Given the description of an element on the screen output the (x, y) to click on. 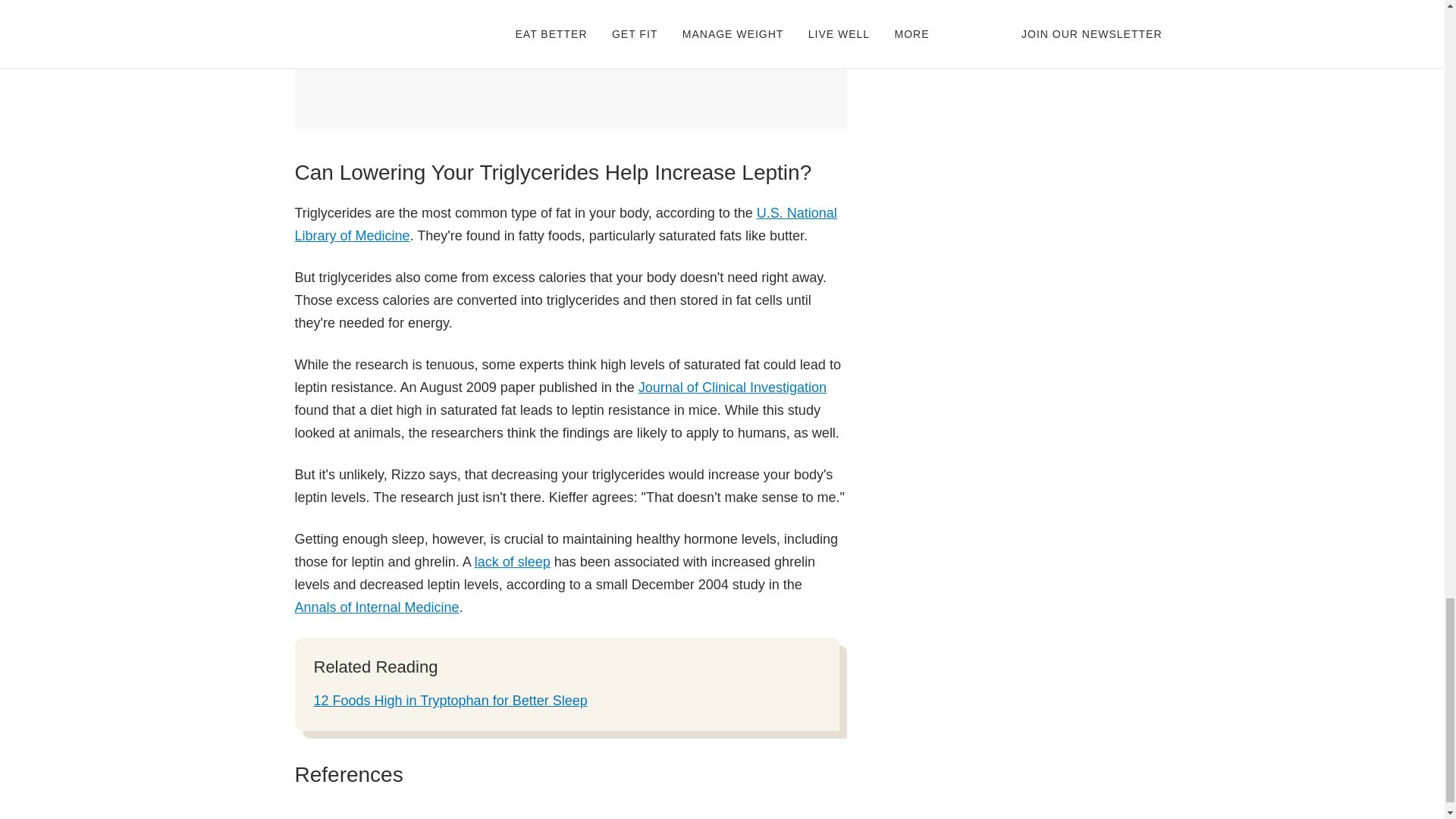
Journal of Clinical Investigation (733, 387)
lack of sleep (512, 561)
U.S. National Library of Medicine (564, 224)
Annals of Internal Medicine (549, 618)
